Given the description of an element on the screen output the (x, y) to click on. 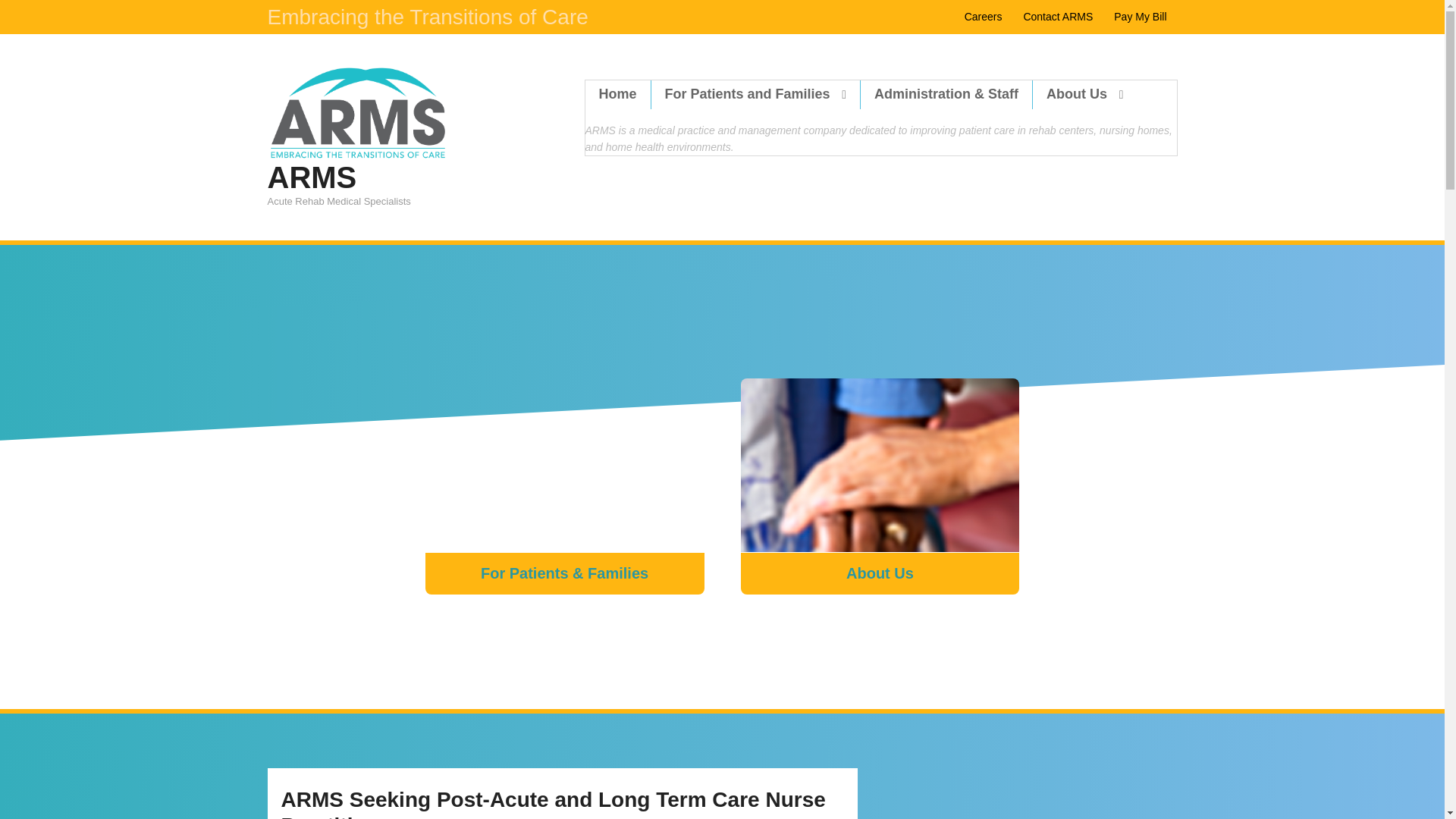
Home (617, 94)
For Patients and Families (755, 94)
About Us (879, 486)
Embracing the Transitions of Care (427, 25)
ARMS (311, 177)
About Us (1084, 94)
Pay My Bill (1139, 17)
Careers (983, 17)
Contact ARMS (1057, 17)
